Given the description of an element on the screen output the (x, y) to click on. 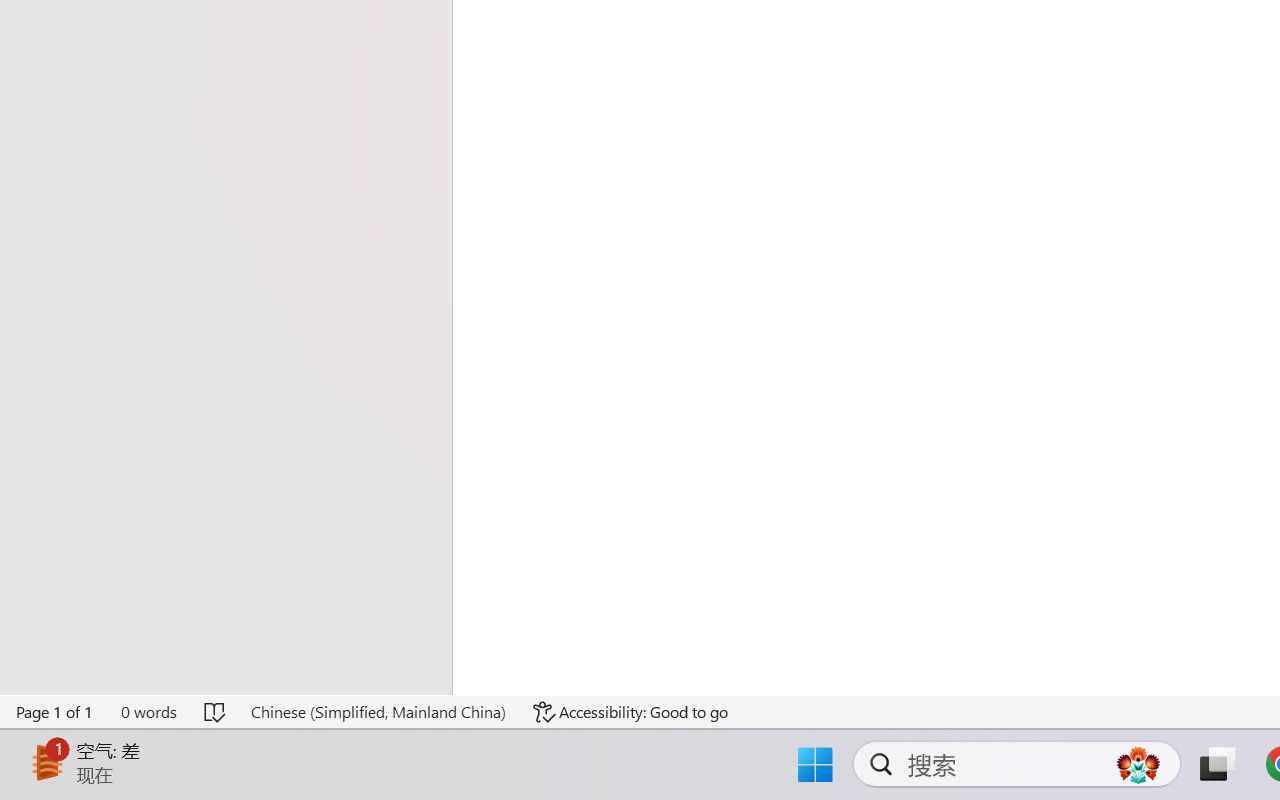
Language Chinese (Simplified, Mainland China) (378, 712)
